Given the description of an element on the screen output the (x, y) to click on. 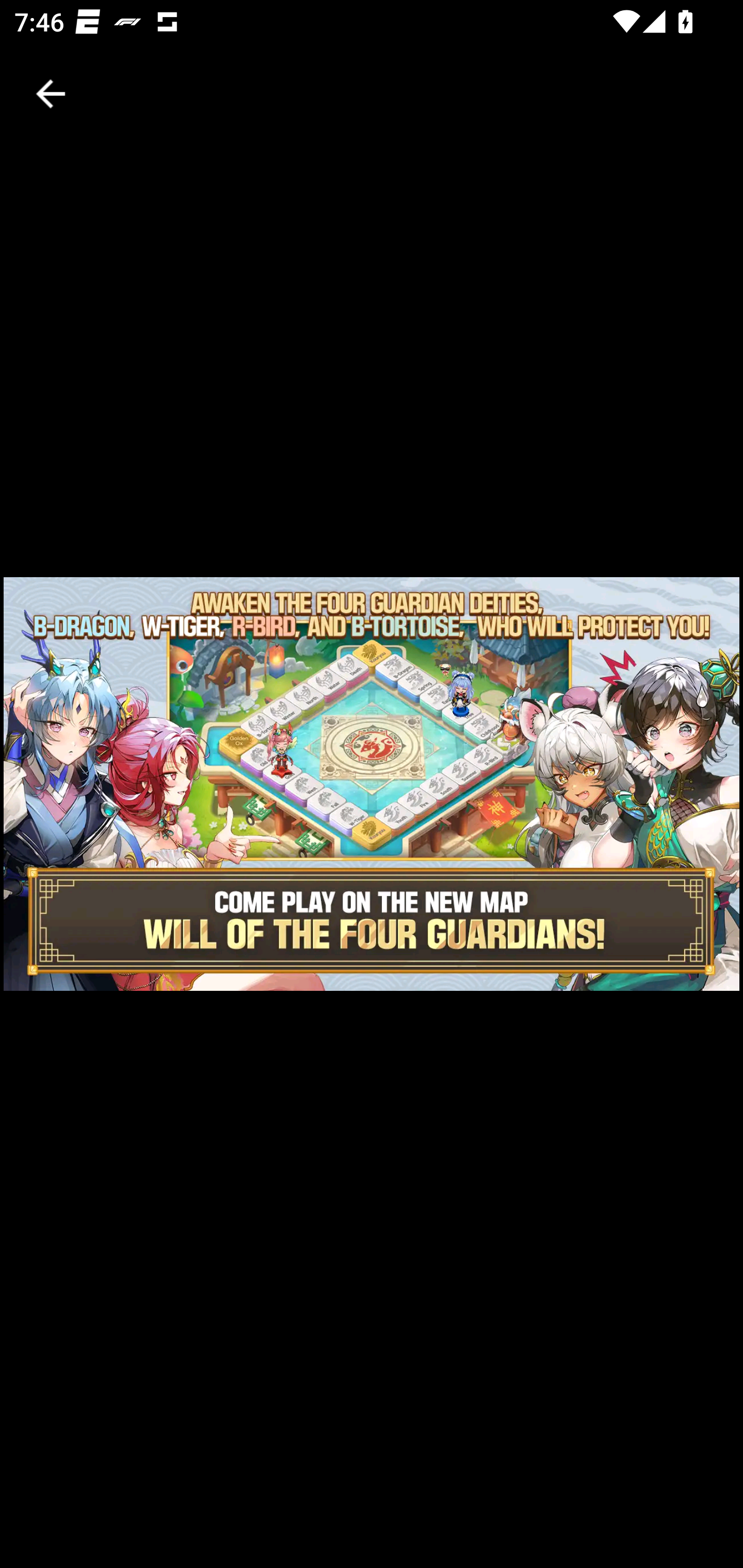
Back (50, 93)
